Given the description of an element on the screen output the (x, y) to click on. 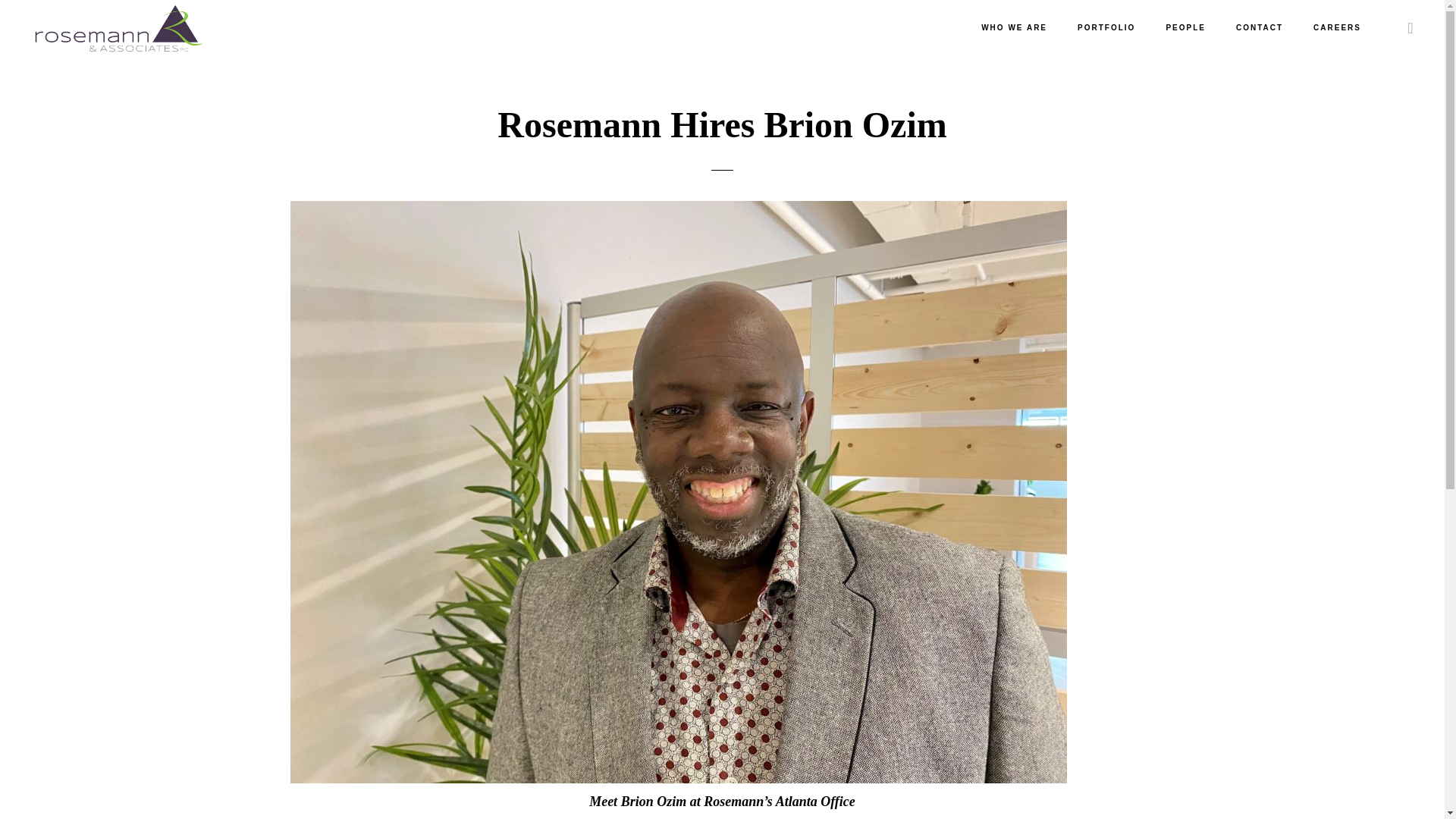
PORTFOLIO (1106, 27)
WHO WE ARE (1014, 27)
CONTACT (1259, 27)
CAREERS (1336, 27)
PEOPLE (1185, 27)
